Given the description of an element on the screen output the (x, y) to click on. 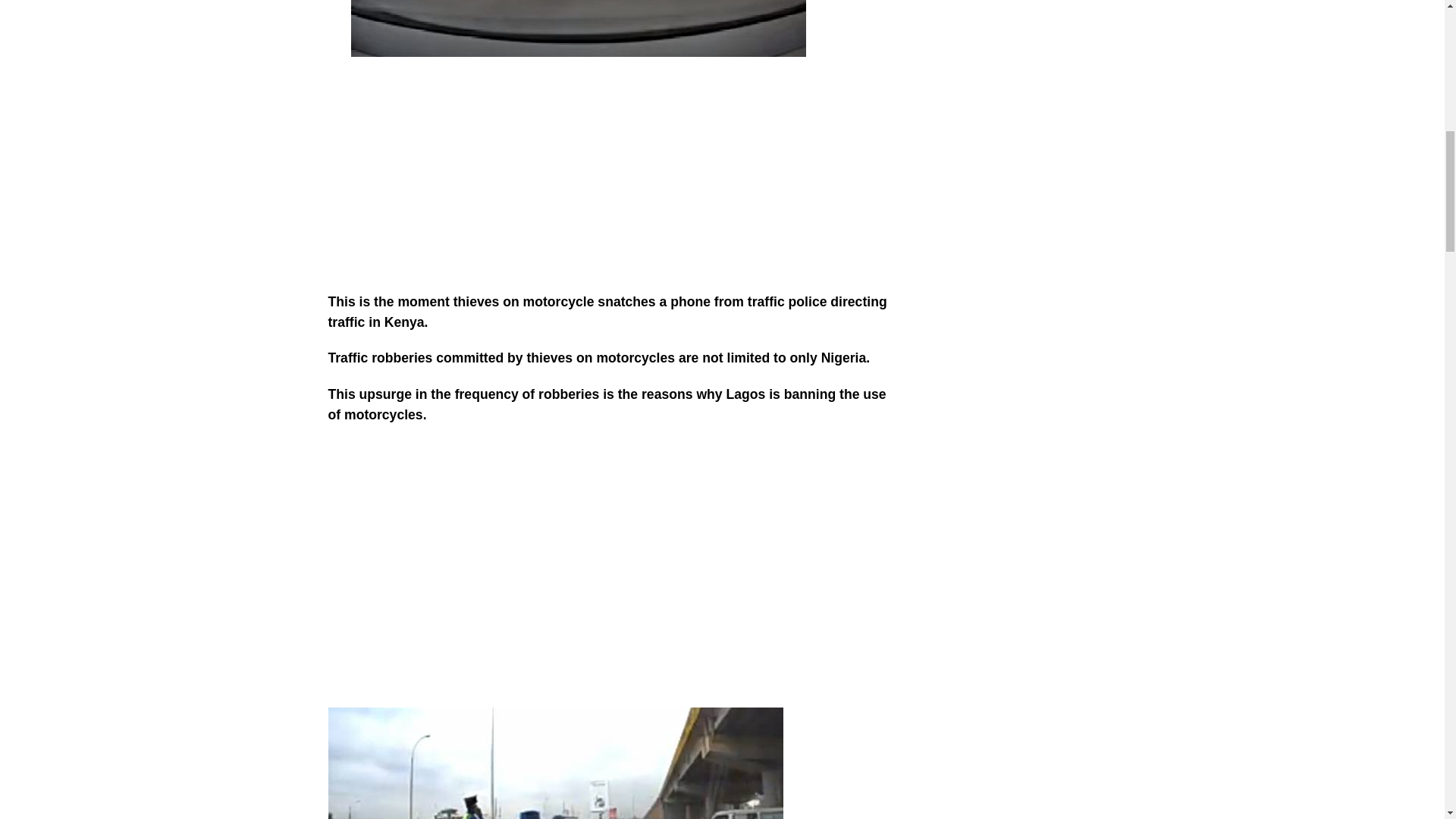
Advertisement (1047, 113)
Advertisement (607, 185)
Advertisement (607, 584)
